Given the description of an element on the screen output the (x, y) to click on. 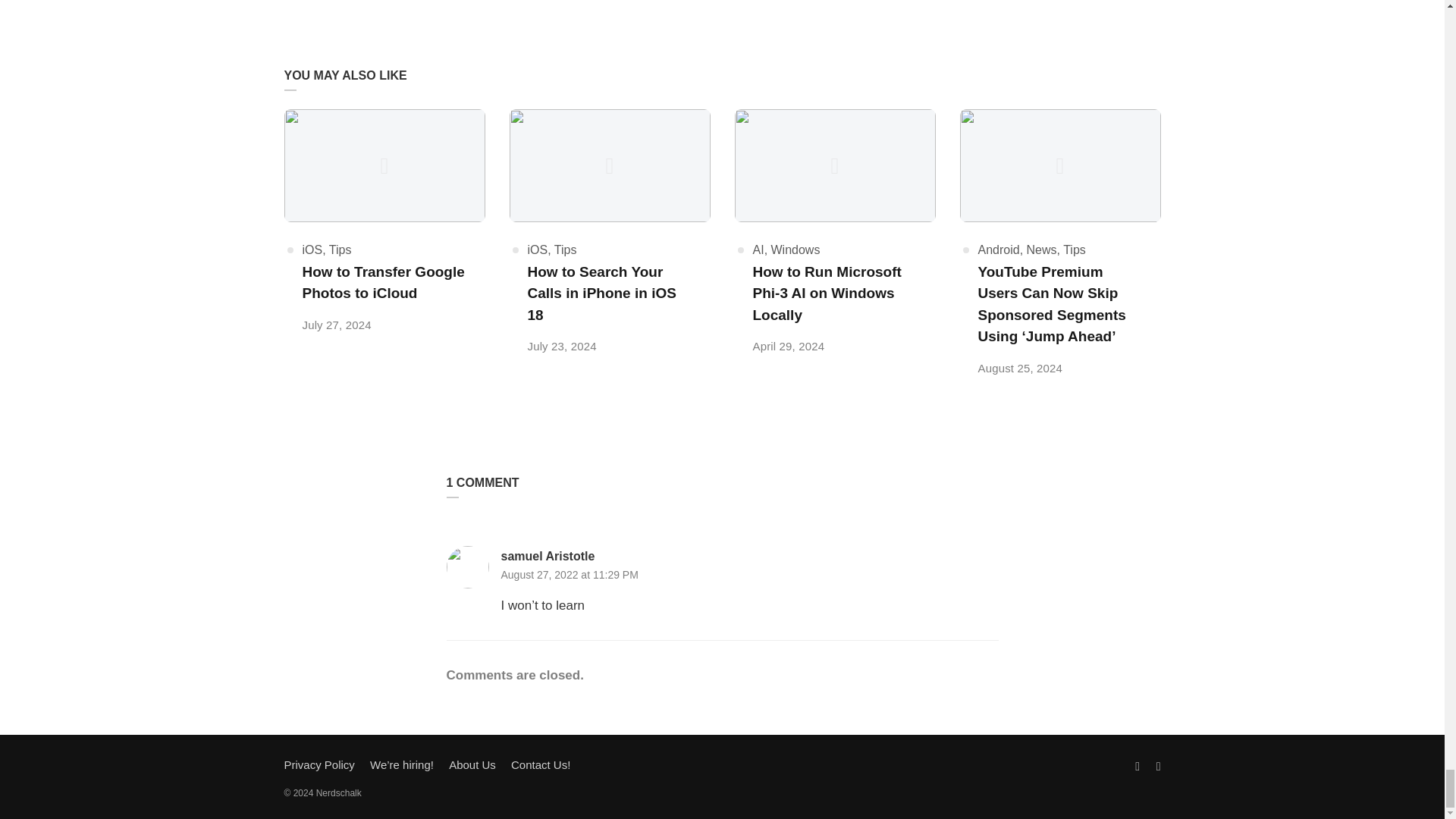
Tips (1074, 249)
iOS (537, 249)
samuel Aristotle (547, 556)
Android (999, 249)
Windows (796, 249)
Tips (340, 249)
iOS (311, 249)
News (1041, 249)
Tips (565, 249)
